Given the description of an element on the screen output the (x, y) to click on. 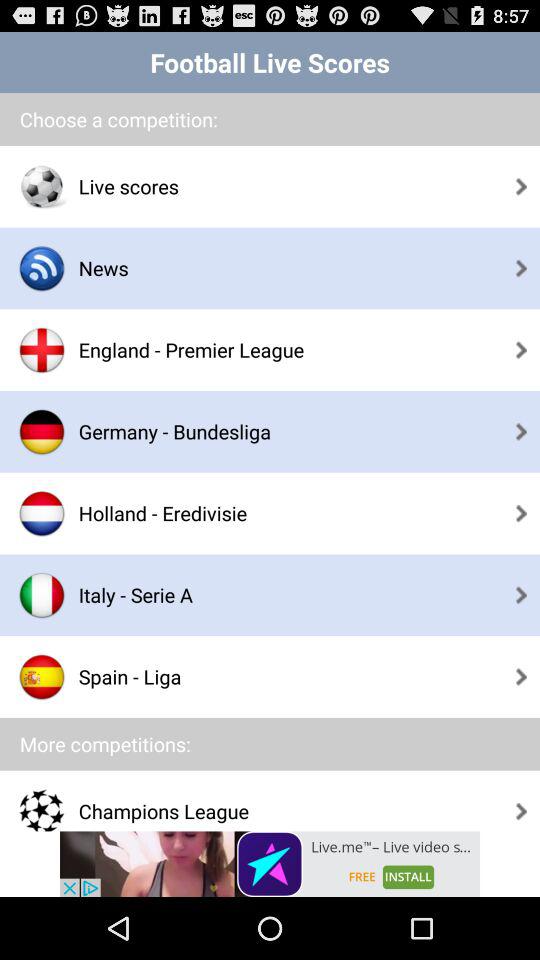
advertisement (270, 864)
